Given the description of an element on the screen output the (x, y) to click on. 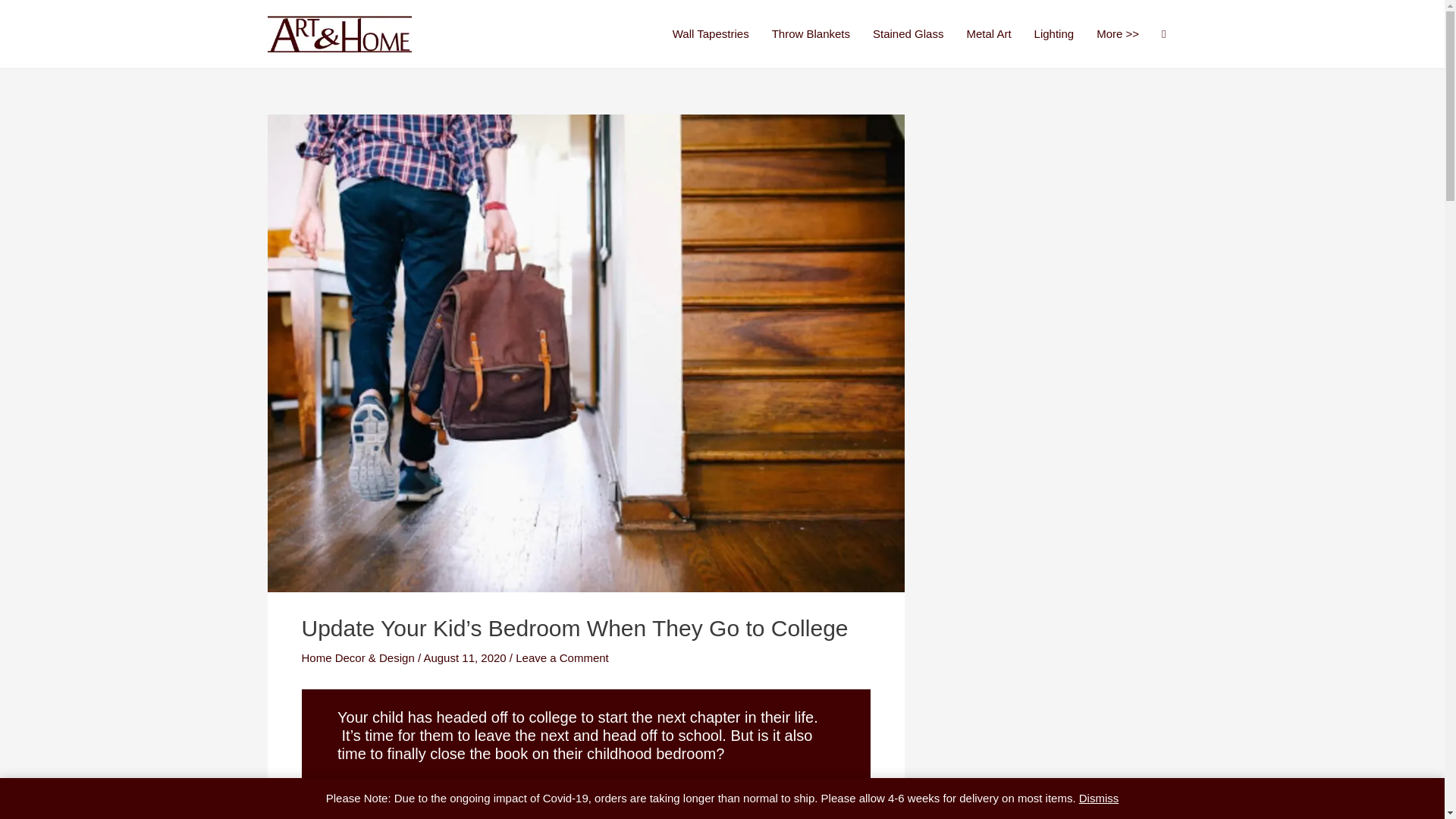
Wall Tapestries (710, 34)
Stained Glass (908, 34)
Leave a Comment (561, 657)
Throw Blankets (810, 34)
Metal Art (988, 34)
Advertisement (1062, 213)
Lighting (1054, 34)
